Given the description of an element on the screen output the (x, y) to click on. 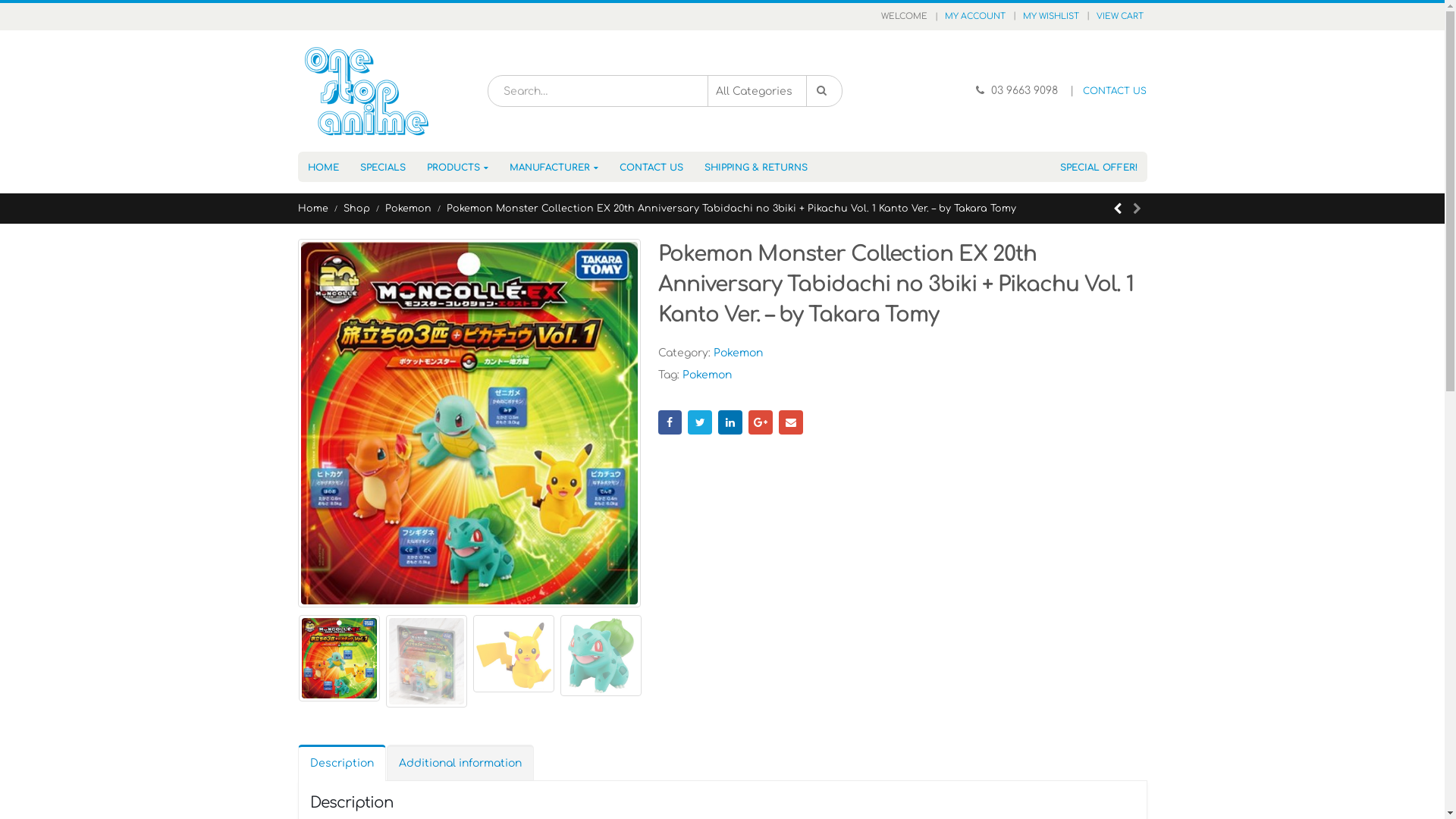
Twitter Element type: text (699, 422)
MANUFACTURER Element type: text (552, 166)
SPECIAL OFFER! Element type: text (1097, 166)
Shop Element type: text (355, 208)
Email Element type: text (790, 422)
HOME Element type: text (322, 166)
VIEW CART Element type: text (1119, 16)
Search Element type: hover (823, 90)
SPECIALS Element type: text (382, 166)
One Stop Anime -  Element type: hover (365, 90)
Google + Element type: text (760, 422)
MY WISHLIST Element type: text (1050, 16)
MY ACCOUNT Element type: text (974, 16)
LinkedIn Element type: text (730, 422)
SHIPPING & RETURNS Element type: text (755, 166)
CONTACT US Element type: text (1114, 90)
Pokemon Element type: text (408, 208)
Home Element type: text (312, 208)
Pokemon Element type: text (737, 353)
CONTACT US Element type: text (651, 166)
Facebook Element type: text (670, 422)
Pokemon Element type: text (706, 375)
PRODUCTS Element type: text (457, 166)
